Given the description of an element on the screen output the (x, y) to click on. 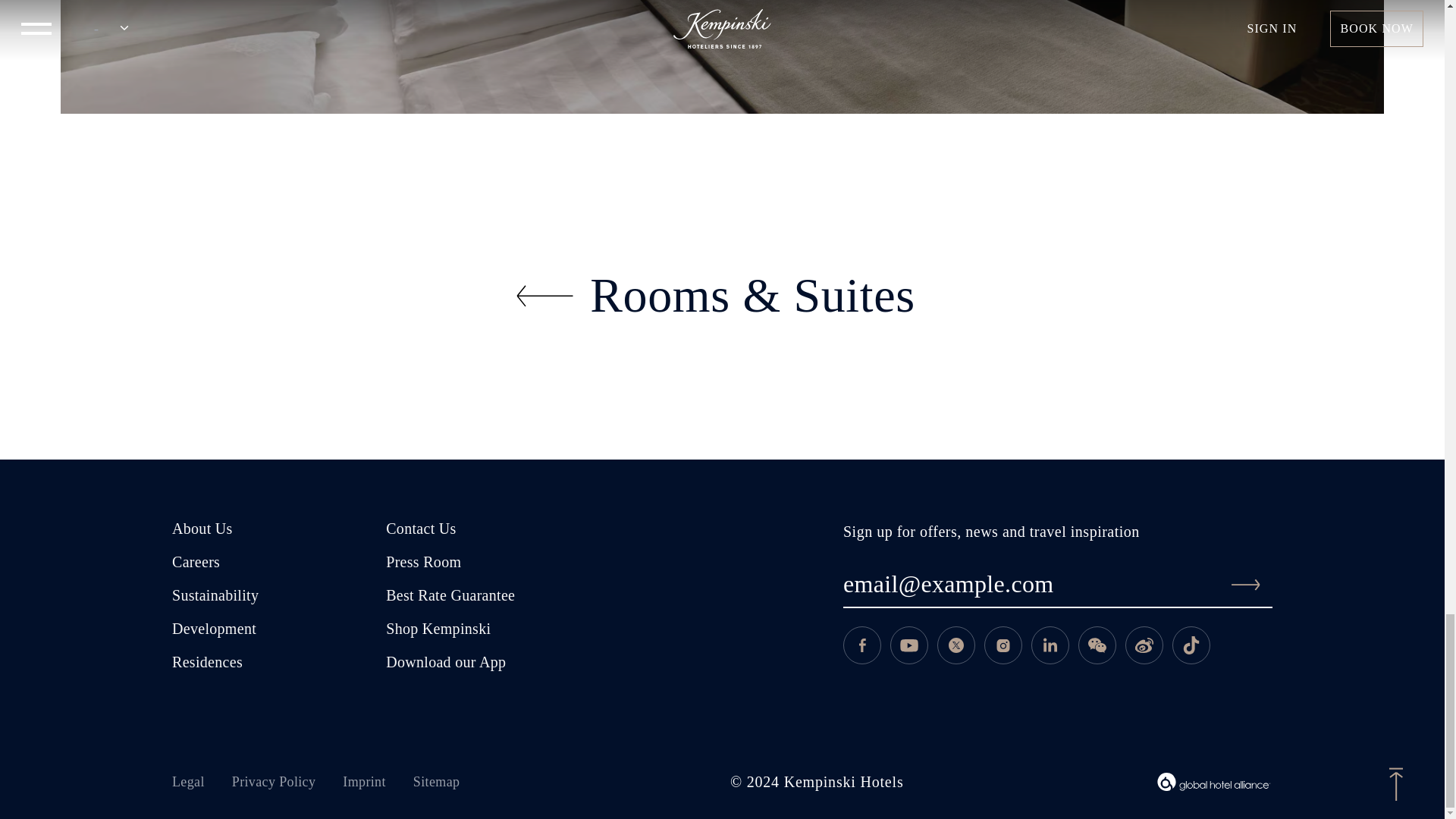
Careers (195, 563)
Contact Us (420, 530)
Development (213, 630)
Shop Kempinski (437, 630)
About Us (201, 530)
Legal (201, 781)
Press Room (423, 563)
Residences (207, 663)
Sitemap (450, 781)
Imprint (377, 781)
Sustainability (215, 597)
Privacy Policy (287, 781)
Download our App (445, 663)
Best Rate Guarantee (450, 597)
